Given the description of an element on the screen output the (x, y) to click on. 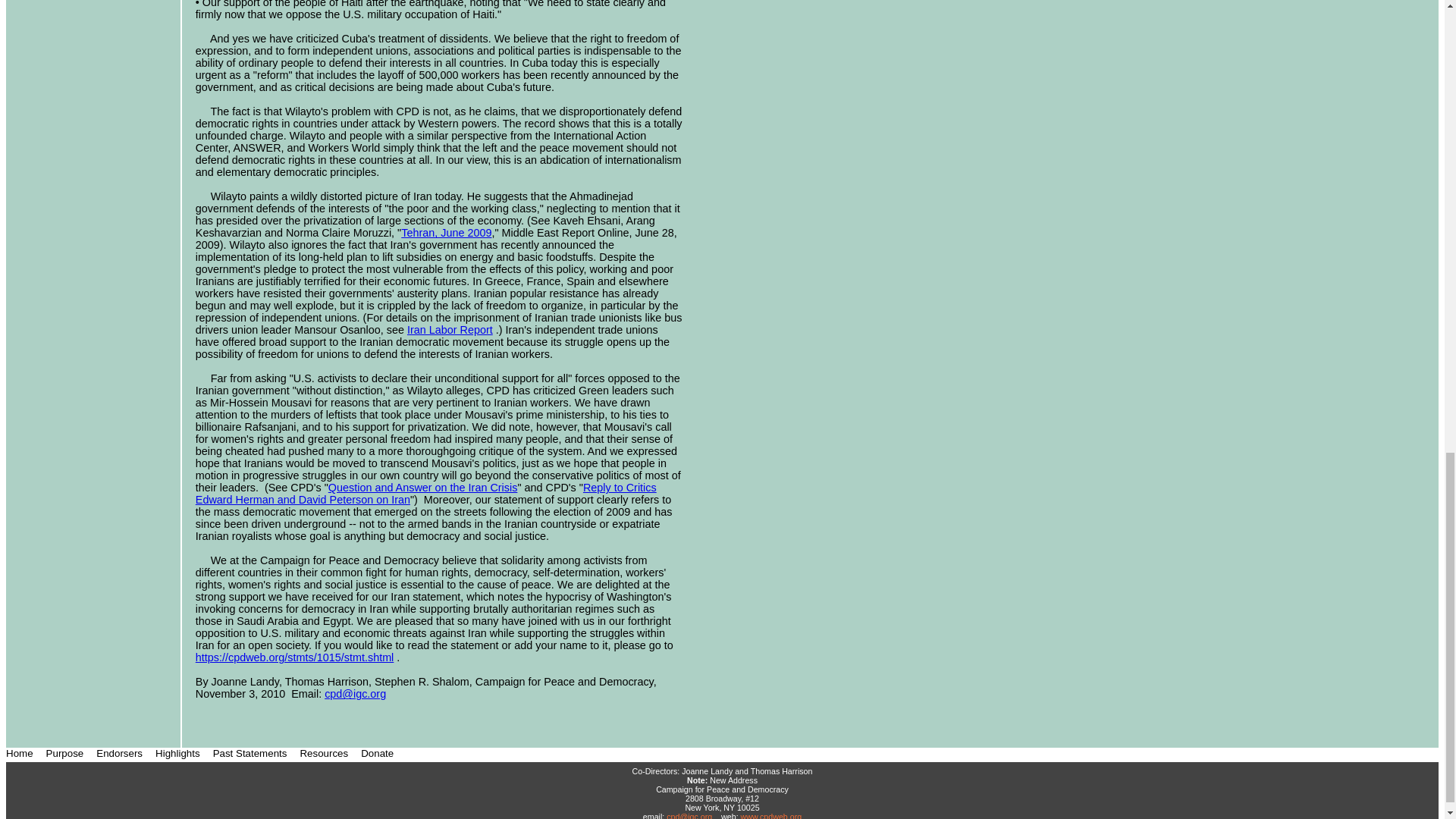
Purpose (65, 753)
Endorsers (120, 753)
Past Statements (250, 753)
Tehran, June 2009 (446, 232)
Highlights (178, 753)
Reply to Critics Edward Herman and David Peterson on Iran (425, 493)
Resources (324, 753)
Home (19, 753)
Iran Labor Report (450, 329)
Question and Answer on the Iran Crisis (423, 487)
Donate (377, 753)
